Given the description of an element on the screen output the (x, y) to click on. 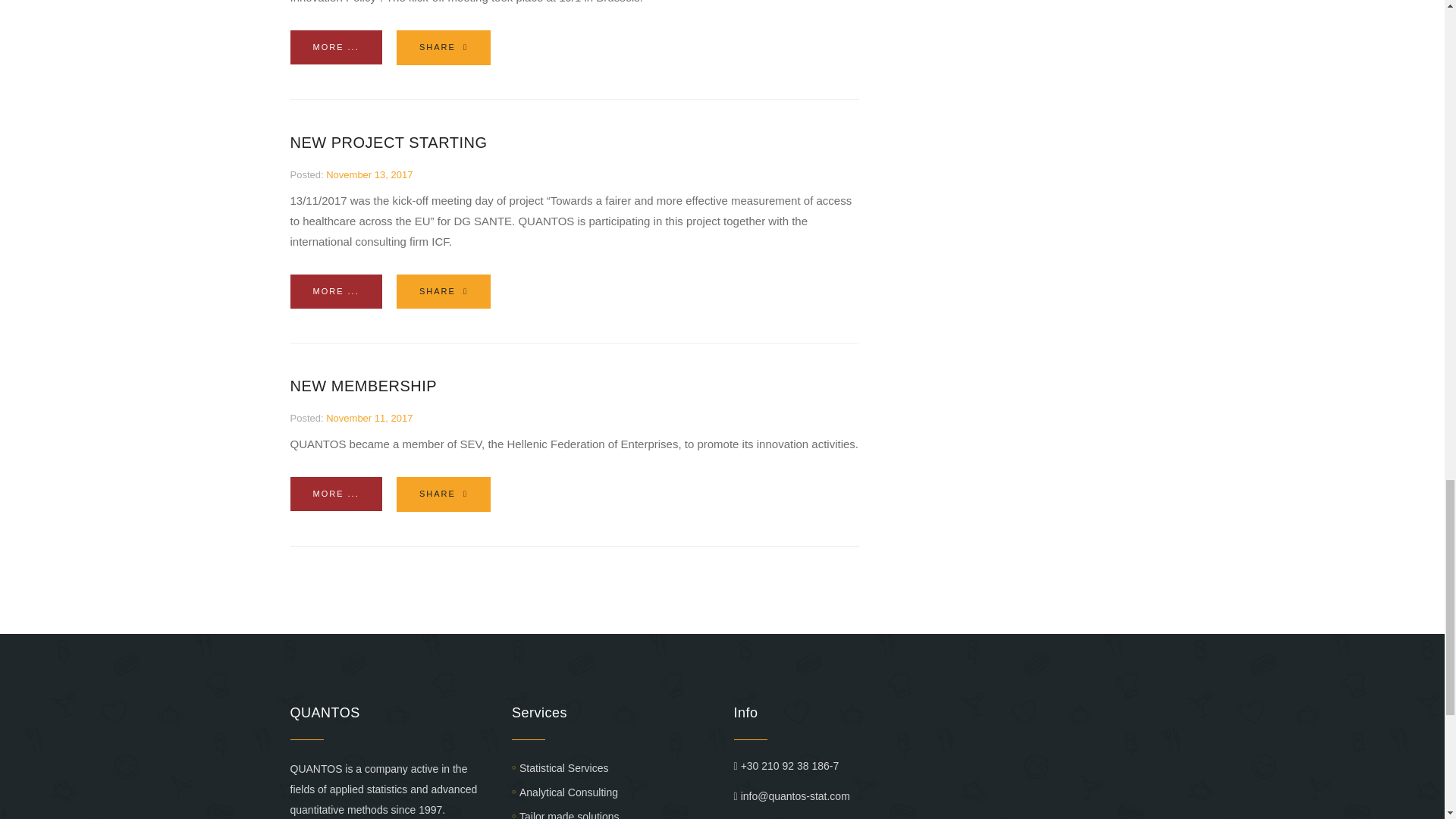
Share on Facebook (443, 47)
New project starting (387, 142)
